Given the description of an element on the screen output the (x, y) to click on. 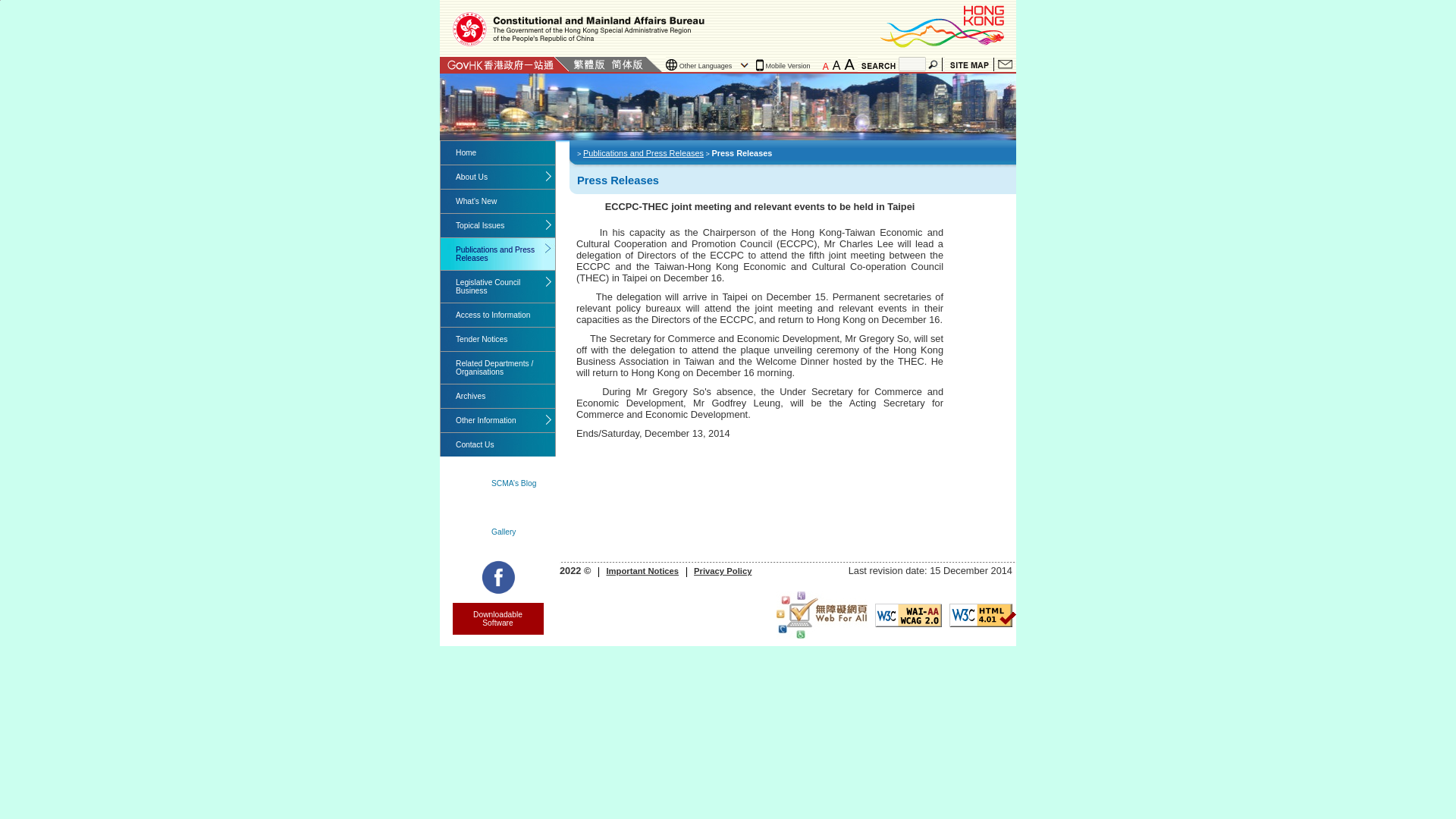
Web Accessibility Recognition Scheme (821, 614)
Traditional Chinese (588, 64)
Other Languages (708, 65)
Search (934, 64)
What's New (497, 200)
Topical Issues (497, 225)
Home (497, 152)
Valid HTML 4.01 (982, 615)
